Given the description of an element on the screen output the (x, y) to click on. 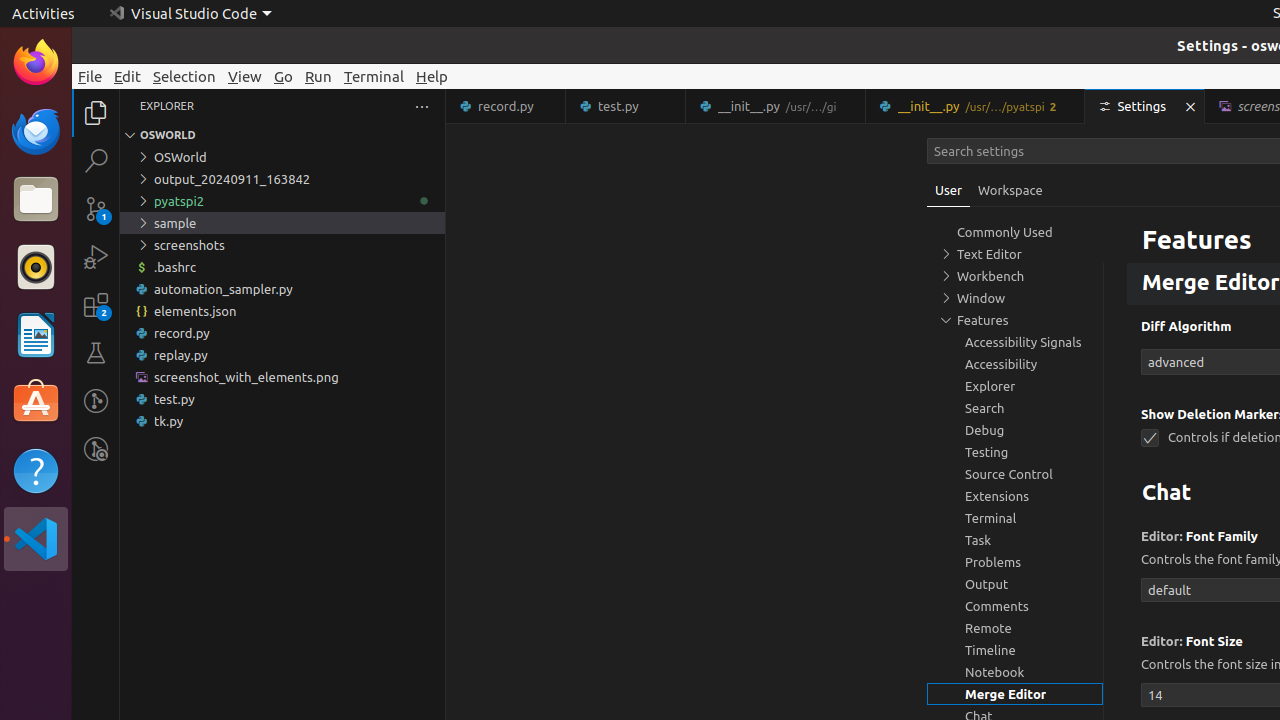
Accessibility Signals, group Element type: tree-item (1015, 342)
Firefox Web Browser Element type: push-button (36, 63)
replay.py Element type: tree-item (282, 355)
OSWorld Element type: tree-item (282, 157)
automation_sampler.py Element type: tree-item (282, 289)
